Given the description of an element on the screen output the (x, y) to click on. 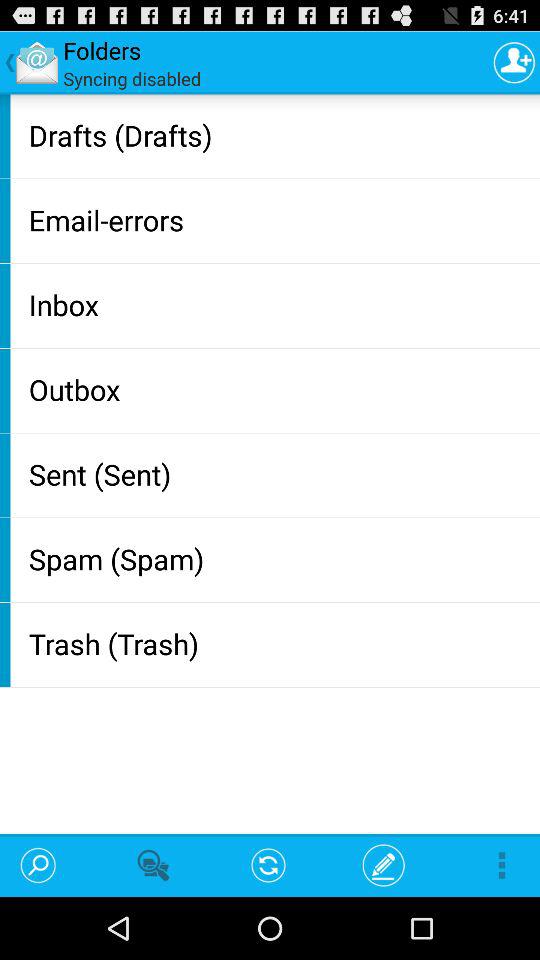
add contacts (514, 62)
